Given the description of an element on the screen output the (x, y) to click on. 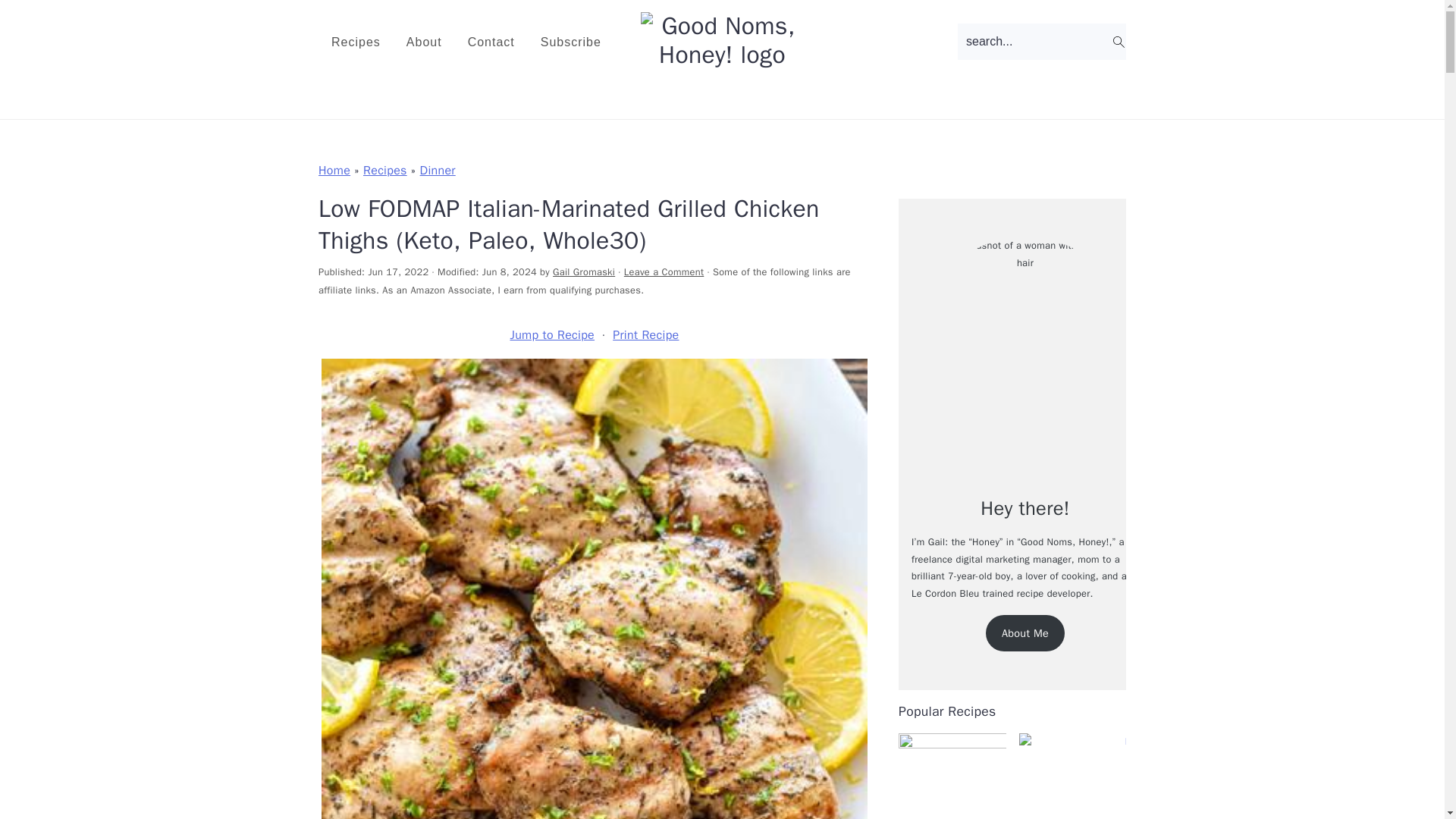
Recipes (384, 170)
Contact (490, 42)
Good Noms, Honey! (721, 54)
Leave a Comment (663, 272)
Home (334, 170)
Gail Gromaski (583, 272)
Jump to Recipe (551, 334)
Dinner (437, 170)
